Given the description of an element on the screen output the (x, y) to click on. 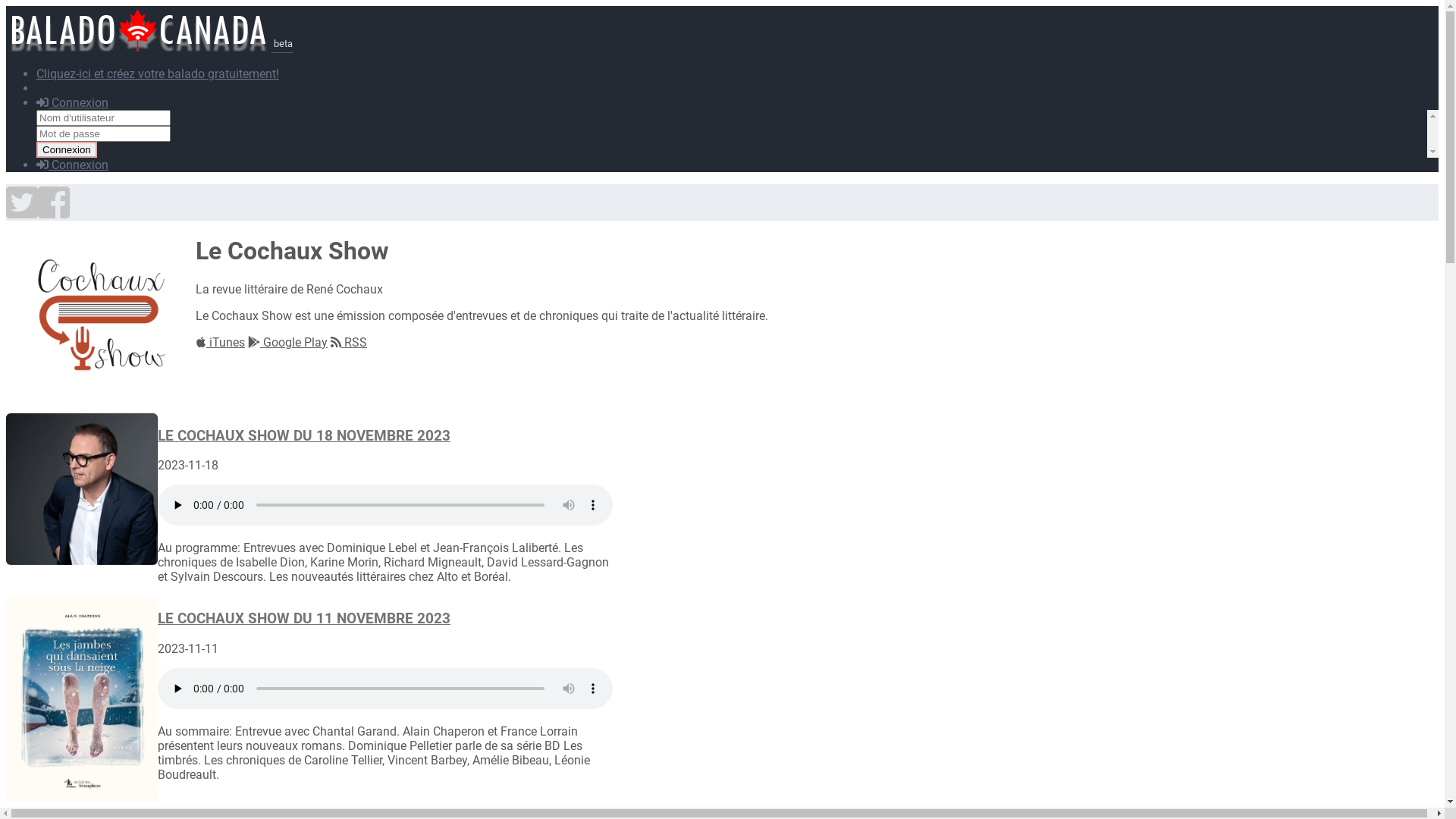
LE COCHAUX SHOW DU 18 NOVEMBRE 2023 Element type: text (303, 435)
Google Play Element type: text (287, 342)
beta Element type: text (149, 47)
LE COCHAUX SHOW DU 11 NOVEMBRE 2023 Element type: text (303, 618)
Connexion Element type: text (72, 102)
Connexion Element type: text (66, 149)
iTunes Element type: text (219, 342)
Connexion Element type: text (72, 164)
RSS Element type: text (348, 342)
